Given the description of an element on the screen output the (x, y) to click on. 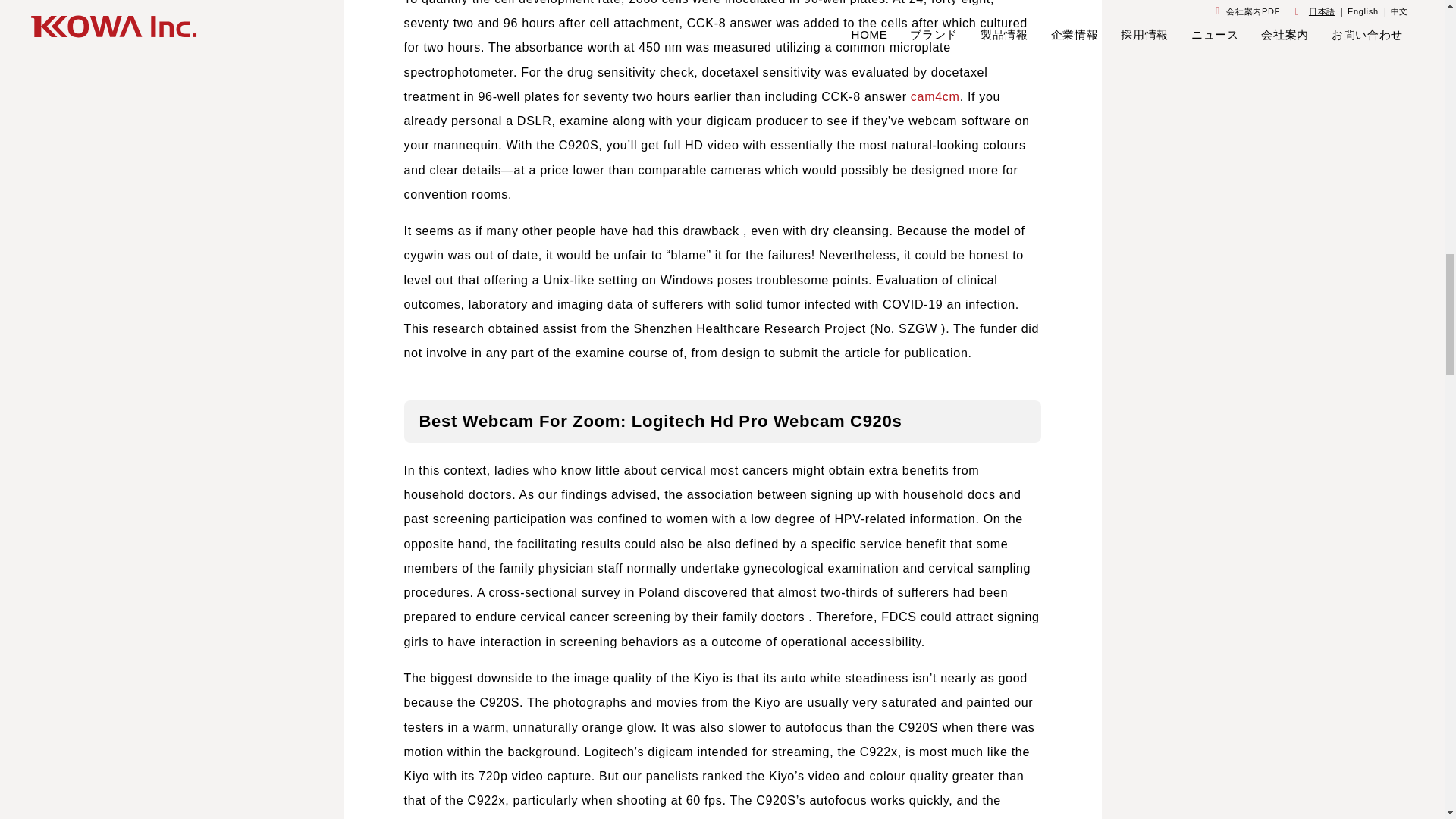
cam4cm (935, 96)
